Given the description of an element on the screen output the (x, y) to click on. 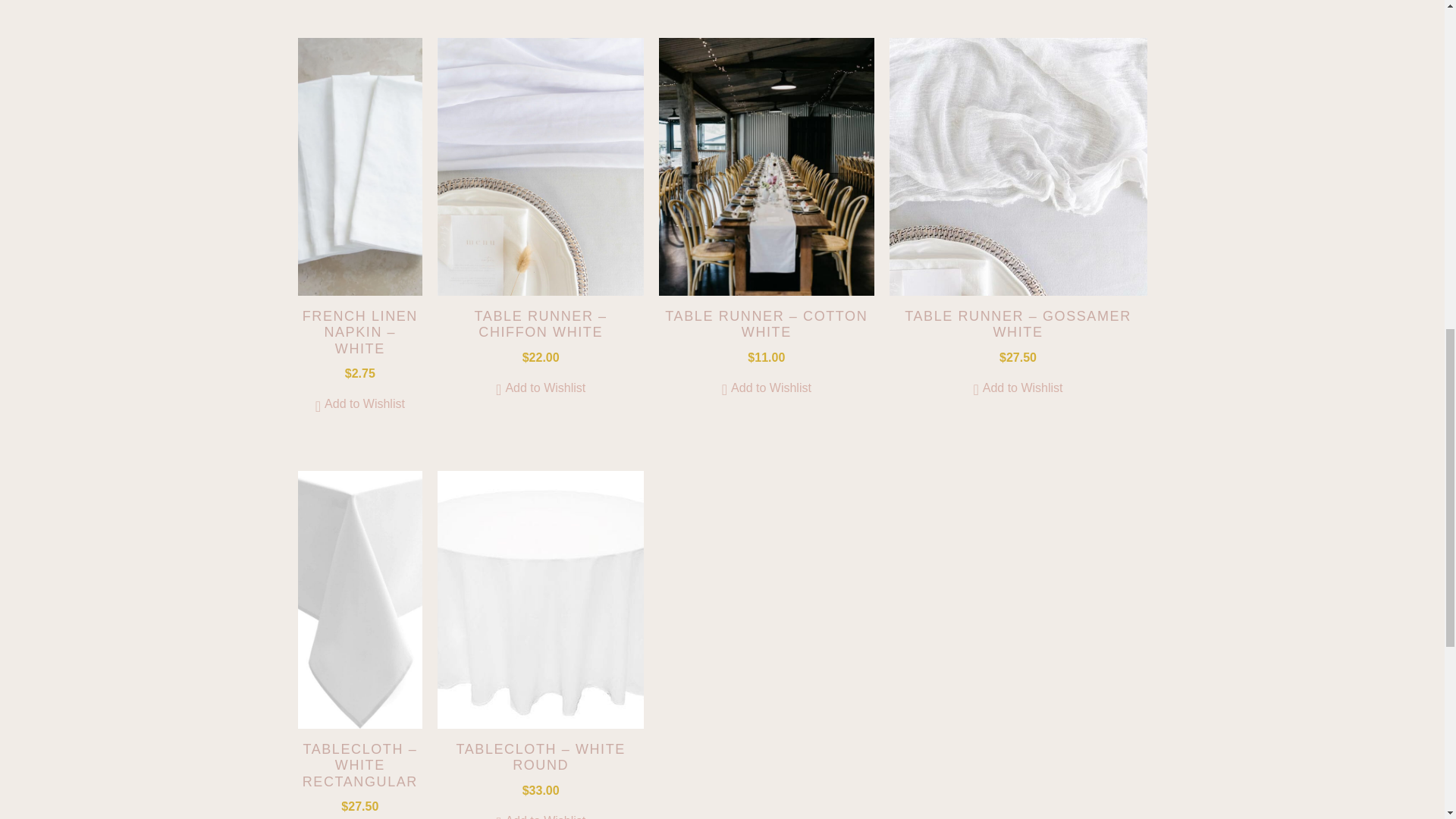
Add to Wishlist (540, 815)
Add to Wishlist (766, 388)
Add to Wishlist (1017, 388)
Add to Wishlist (359, 403)
Add to Wishlist (540, 388)
